Given the description of an element on the screen output the (x, y) to click on. 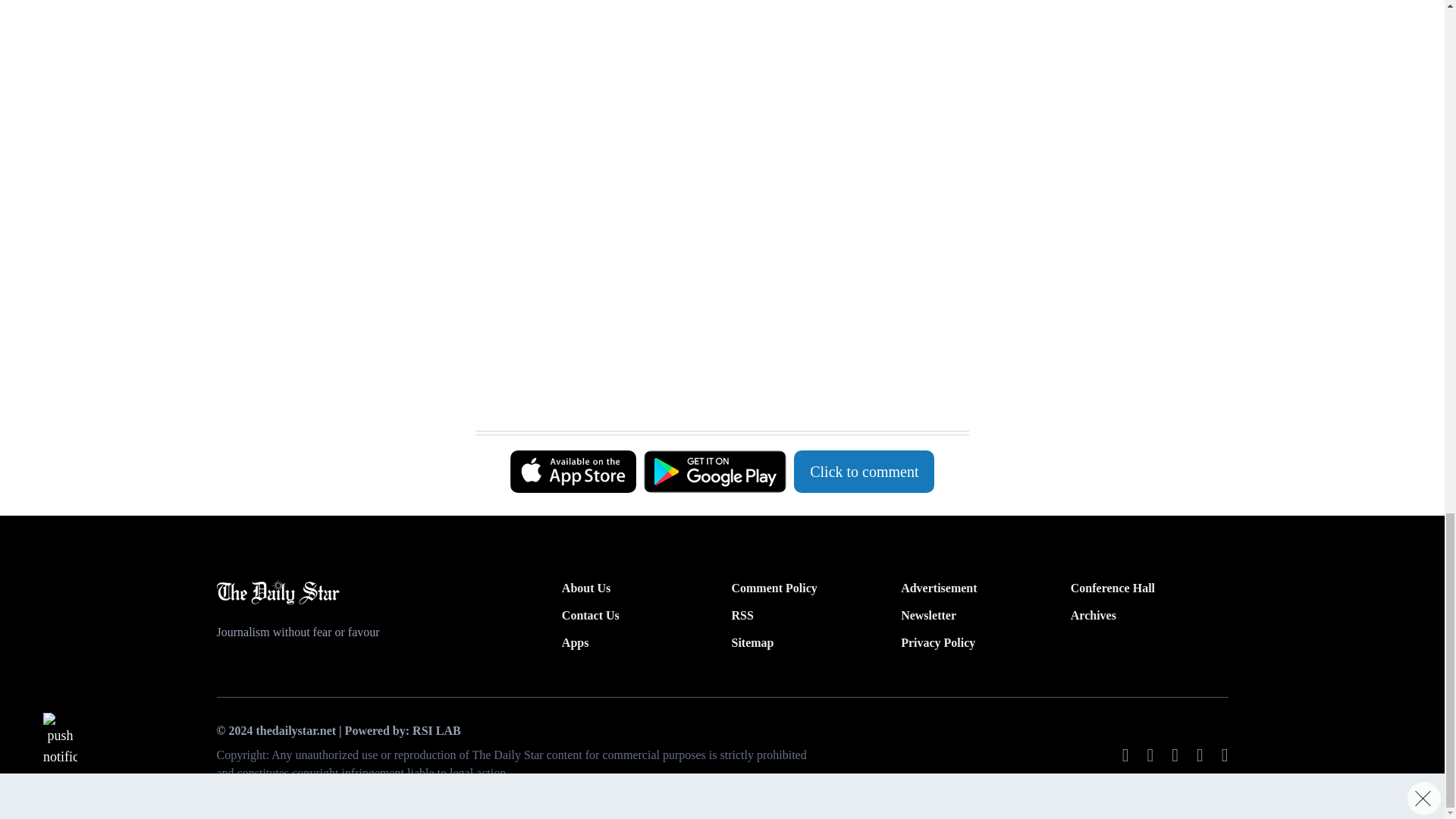
3rd party ad content (713, 252)
3rd party ad content (713, 71)
3rd party ad content (714, 392)
